Given the description of an element on the screen output the (x, y) to click on. 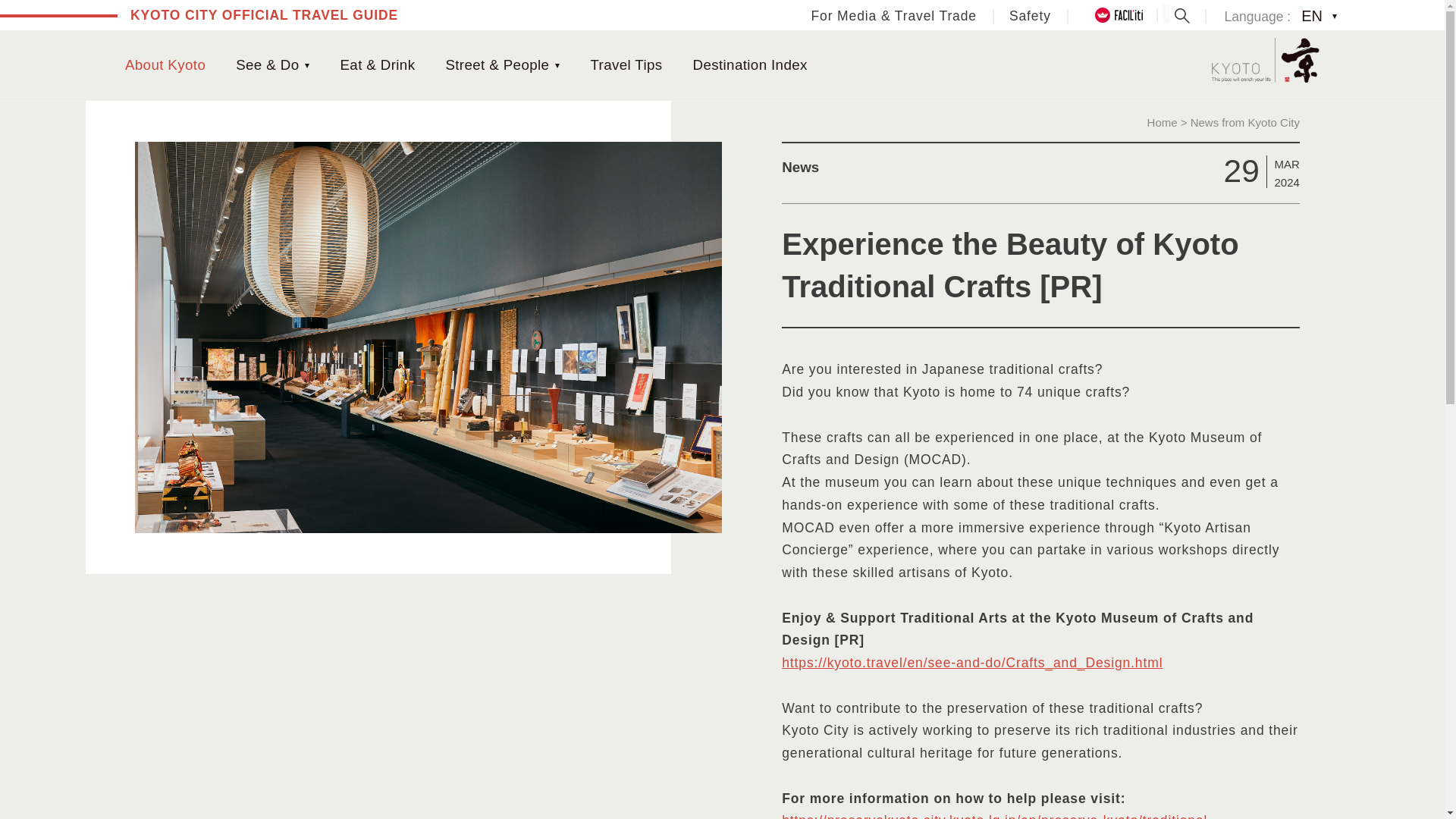
Safety (1030, 15)
Areas (669, 58)
KYOTO CITY OFFICIAL TRAVEL GUIDE (264, 17)
Street (139, 46)
Destination Index (750, 65)
People (201, 46)
About Kyoto (173, 65)
Families with kids (850, 58)
Itineraries (742, 58)
Sustainable Activities (422, 58)
